Given the description of an element on the screen output the (x, y) to click on. 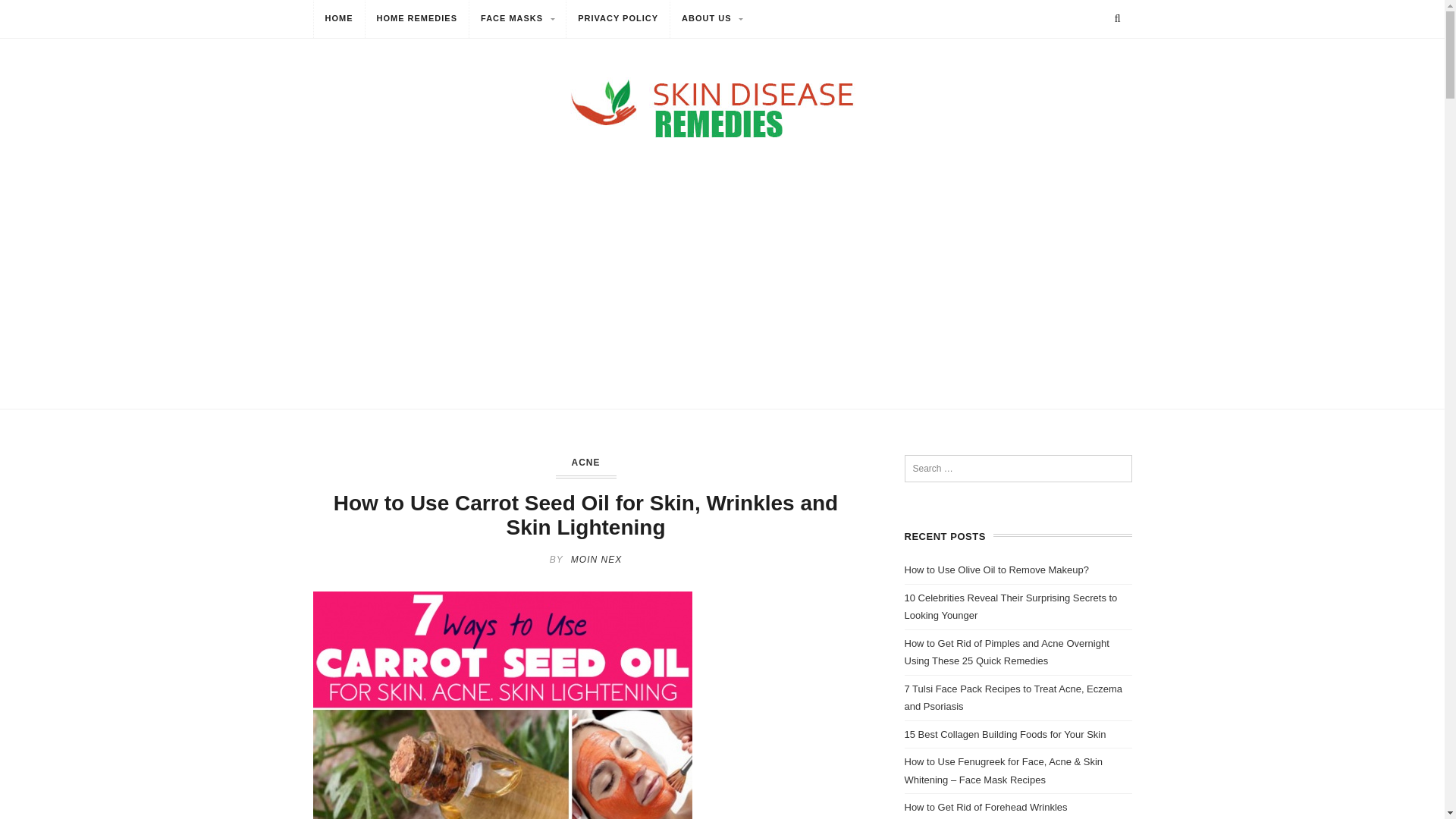
PRIVACY POLICY (617, 19)
View all posts in Acne (584, 462)
MOIN NEX (595, 559)
Skin Disease Remedies (722, 108)
FACE MASKS (517, 19)
ACNE (584, 462)
HOME (339, 19)
ABOUT US (711, 19)
HOME REMEDIES (416, 19)
